Given the description of an element on the screen output the (x, y) to click on. 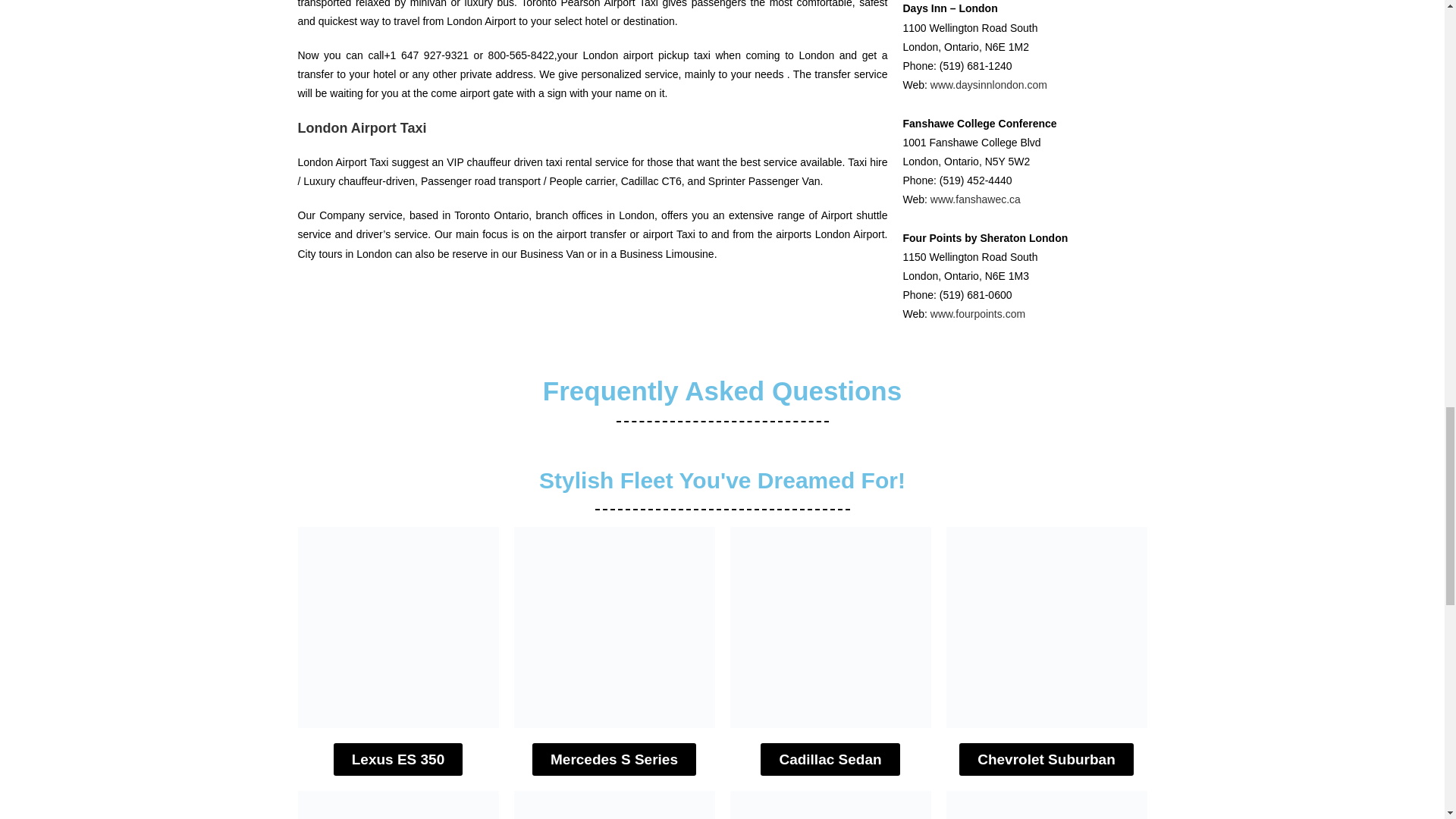
www.daysinnlondon.com (988, 84)
